Given the description of an element on the screen output the (x, y) to click on. 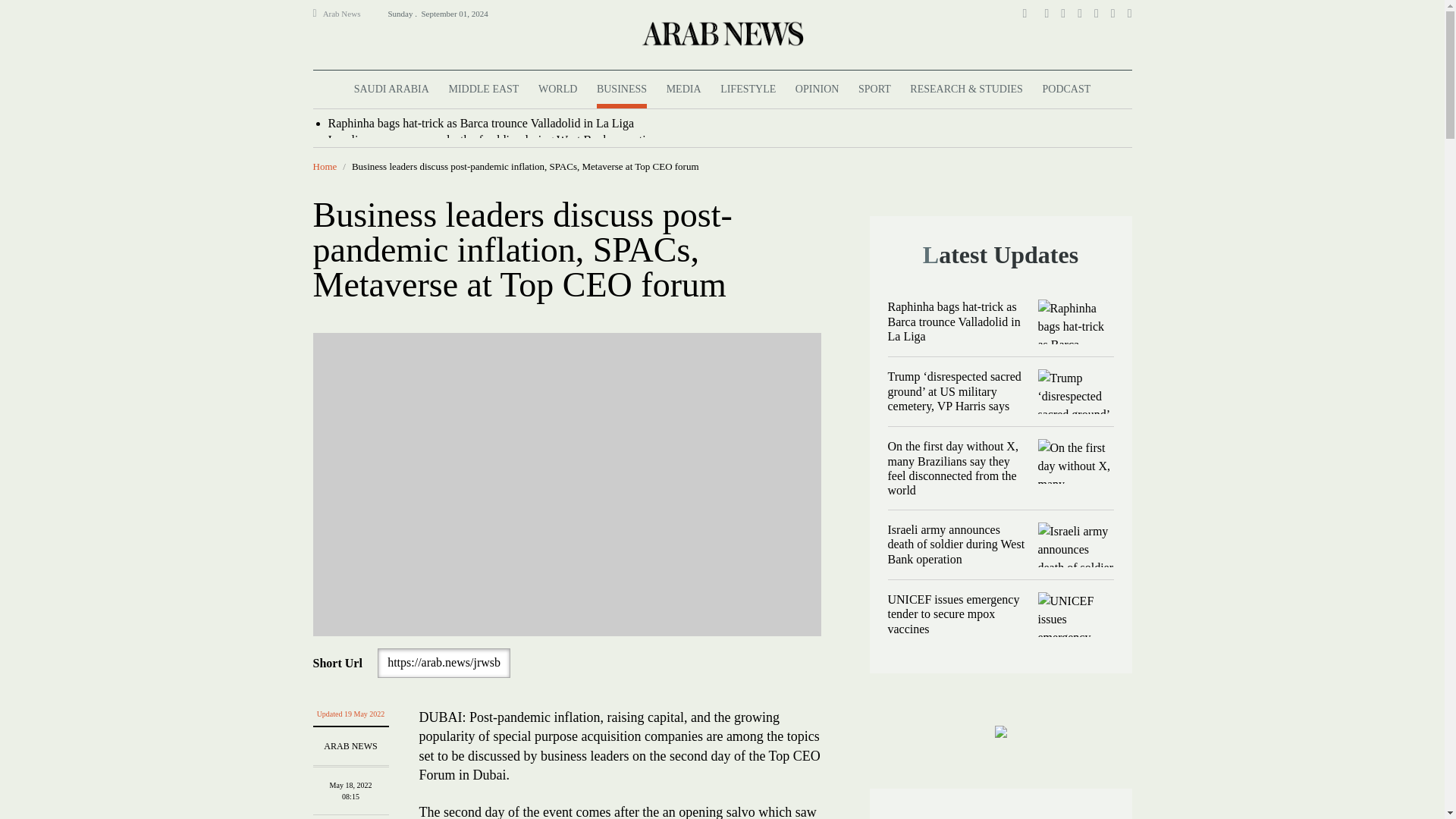
Arabnews (721, 33)
UNICEF issues emergency tender to secure mpox vaccines (1074, 614)
Arab News (348, 13)
